Given the description of an element on the screen output the (x, y) to click on. 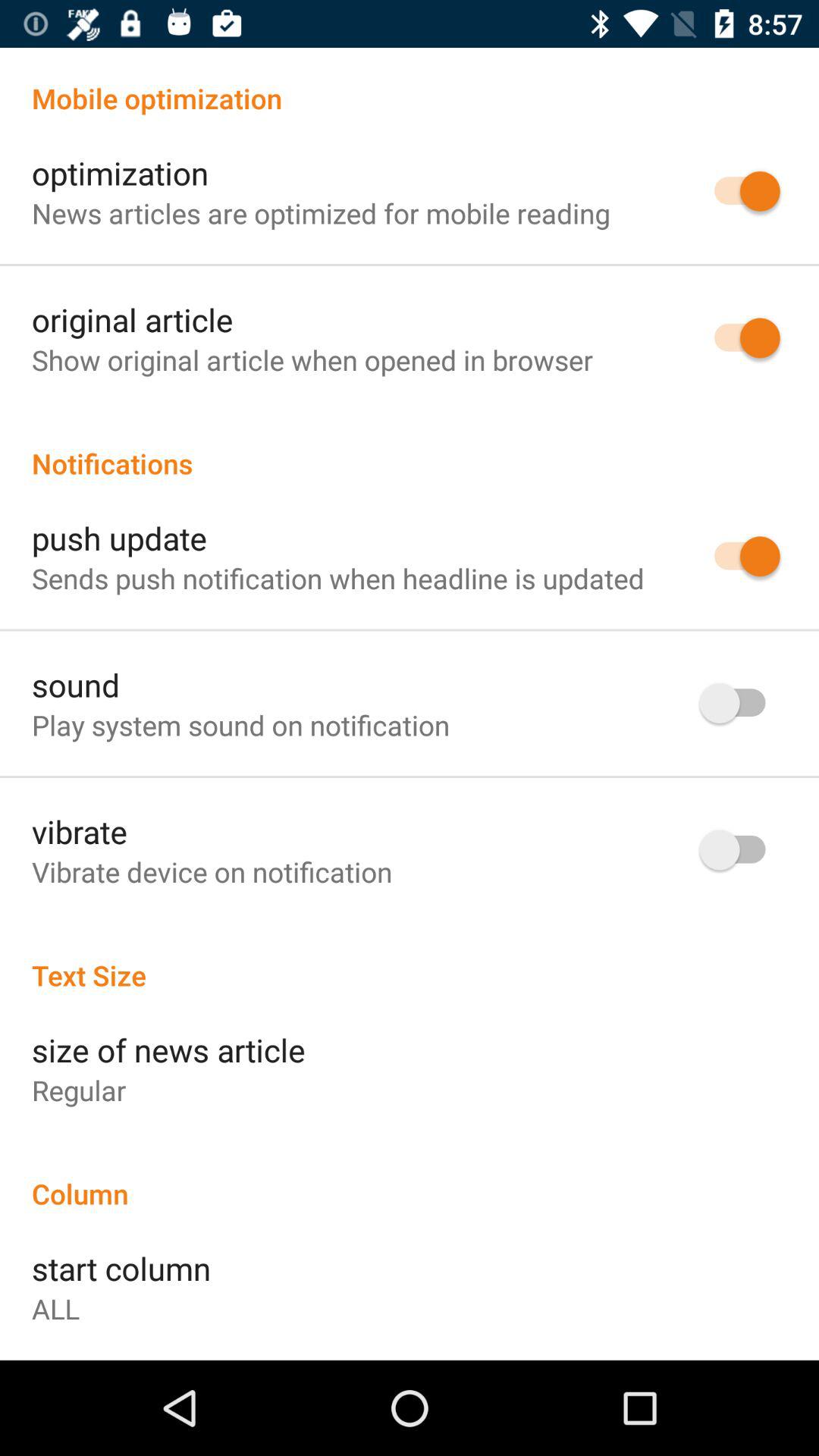
tap mobile optimization app (409, 82)
